Given the description of an element on the screen output the (x, y) to click on. 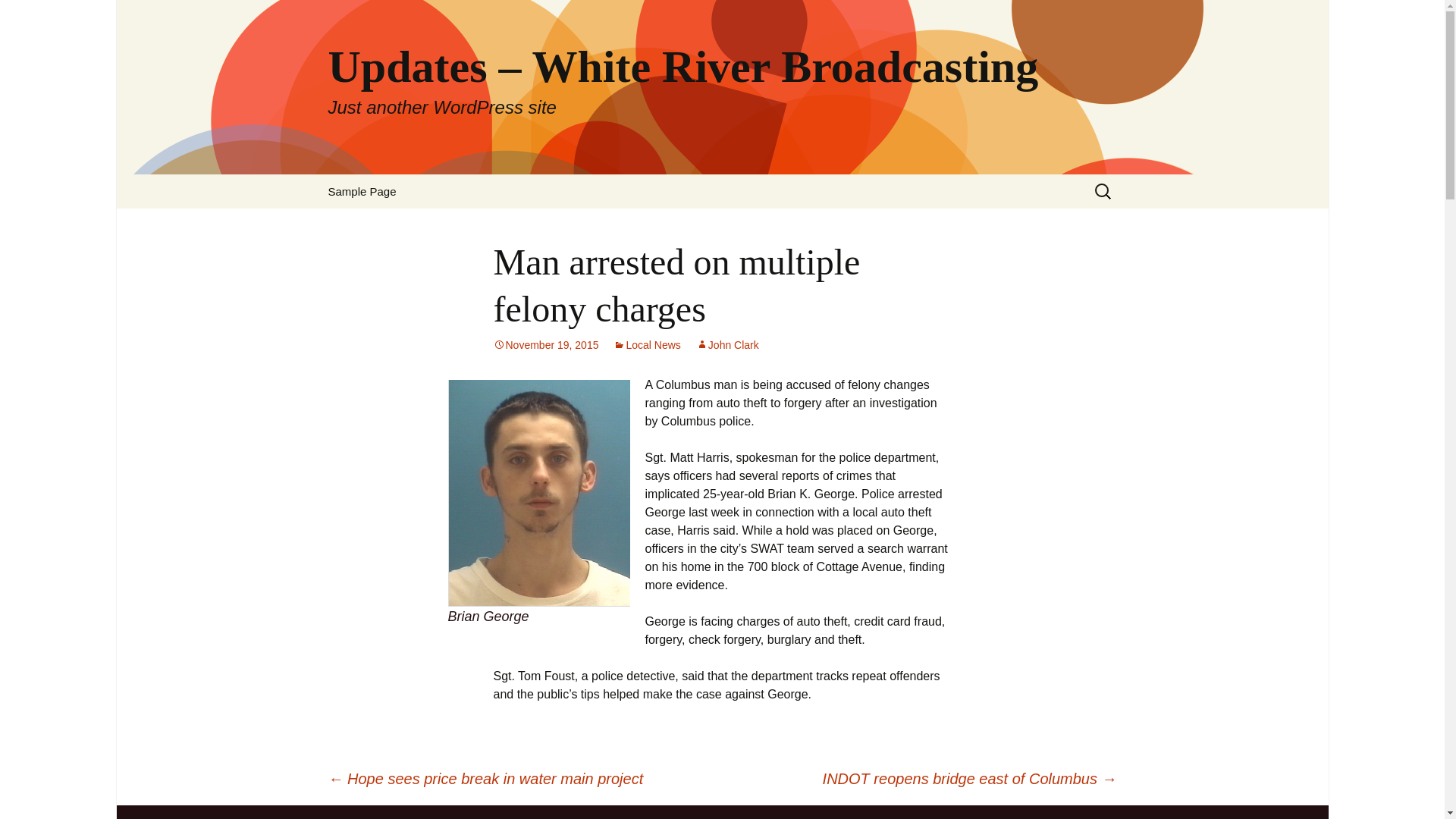
John Clark (726, 345)
Sample Page (361, 191)
November 19, 2015 (545, 345)
Search (34, 15)
View all posts by John Clark (726, 345)
Search (18, 15)
Permalink to Man arrested on multiple felony charges (545, 345)
Local News (645, 345)
